Given the description of an element on the screen output the (x, y) to click on. 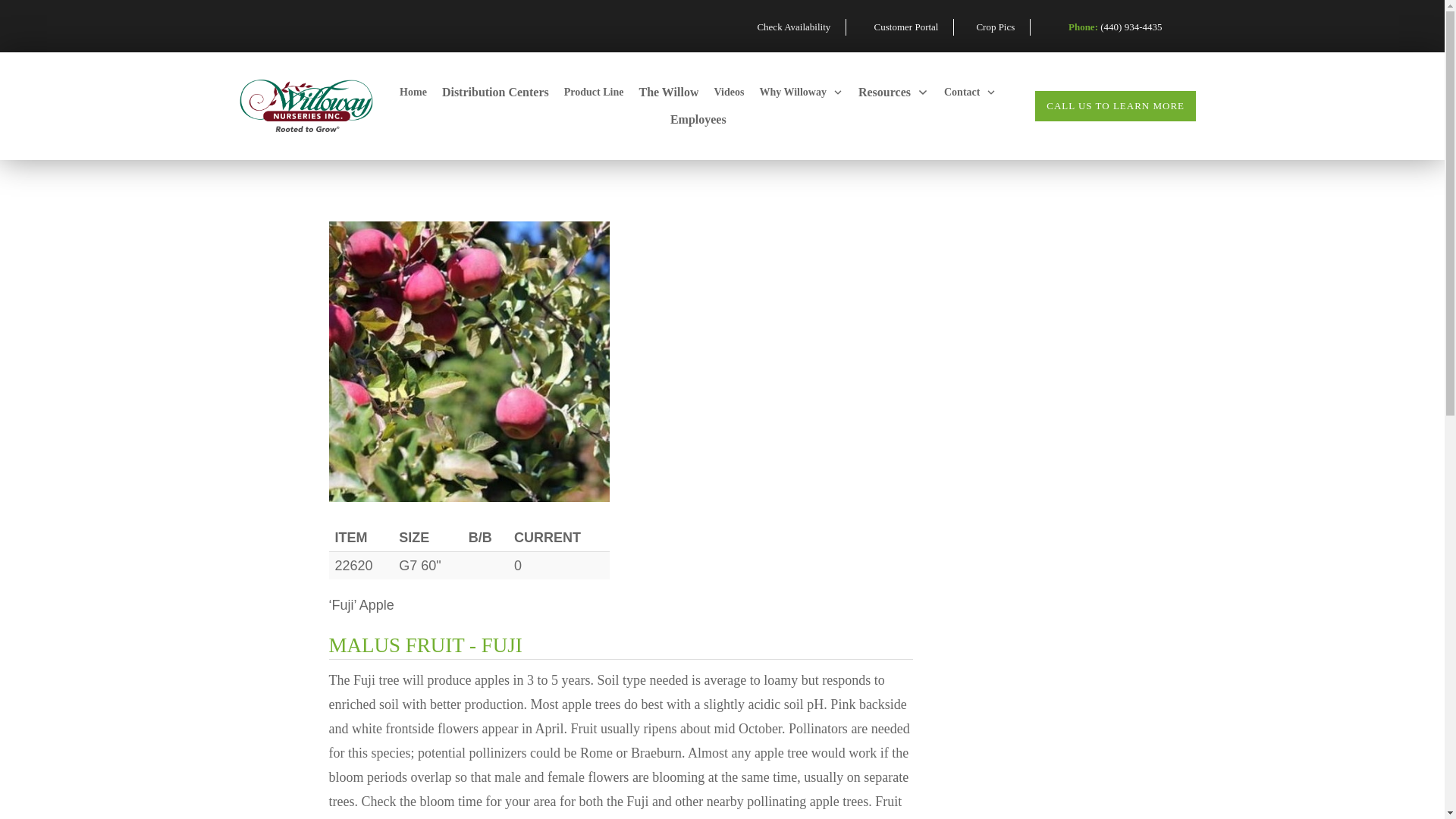
Check Availability (801, 27)
Product Line (594, 92)
Click to enlarge! (469, 361)
Home (412, 92)
Customer Portal (915, 27)
Videos (728, 92)
Employees (697, 119)
Crop Pics (1002, 27)
The Willow (668, 92)
Contact (969, 92)
Why Willoway (800, 92)
Resources (893, 92)
CALL US TO LEARN MORE (1115, 105)
Distribution Centers (495, 92)
WillowayRooted (303, 105)
